Given the description of an element on the screen output the (x, y) to click on. 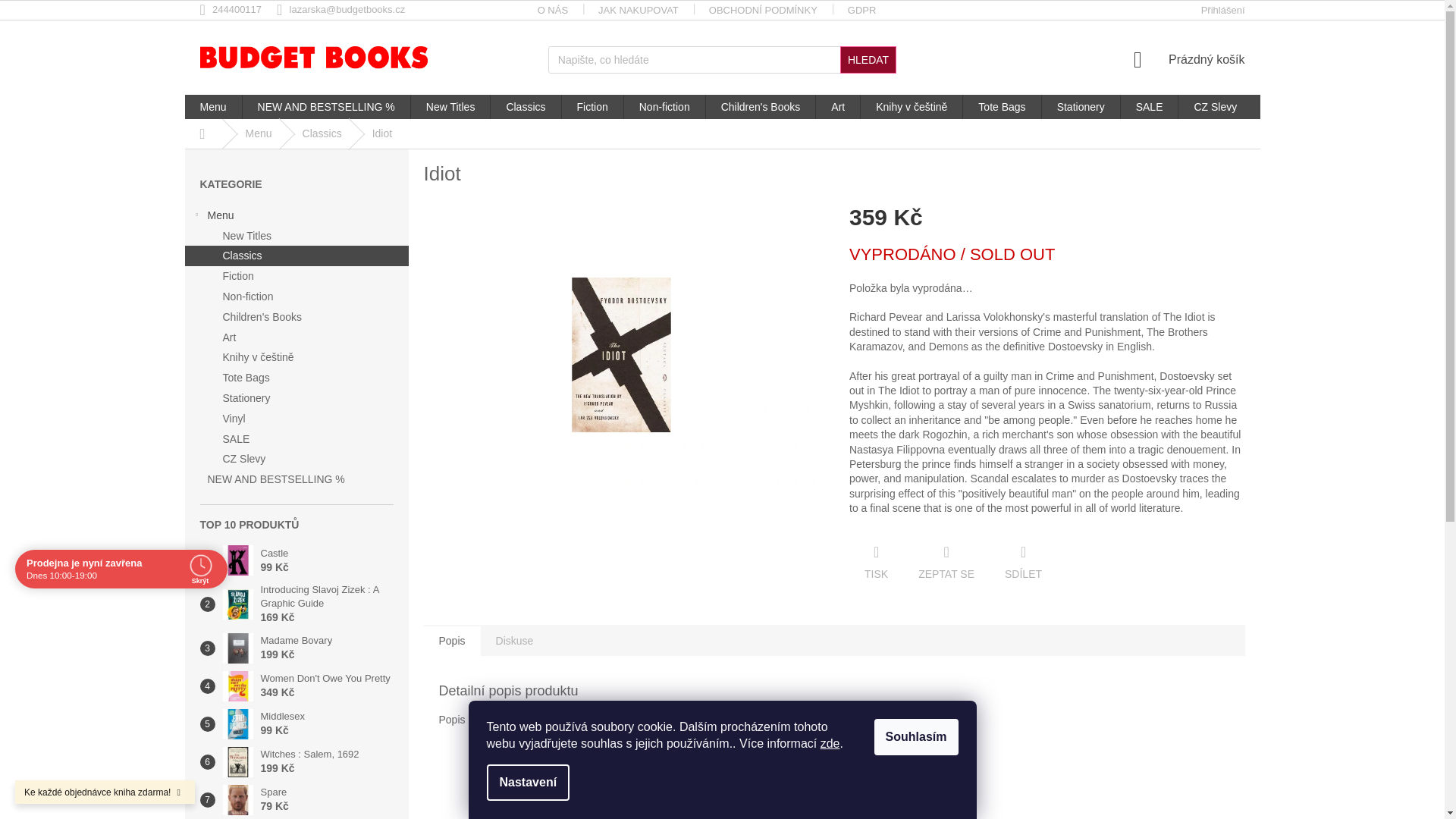
Tisknout produkt (875, 562)
Mluvit s prodejcem (946, 562)
Menu (212, 106)
HLEDAT (868, 59)
244400117 (239, 9)
GDPR (861, 10)
Dostupnost (1046, 254)
JAK NAKUPOVAT (638, 10)
